Given the description of an element on the screen output the (x, y) to click on. 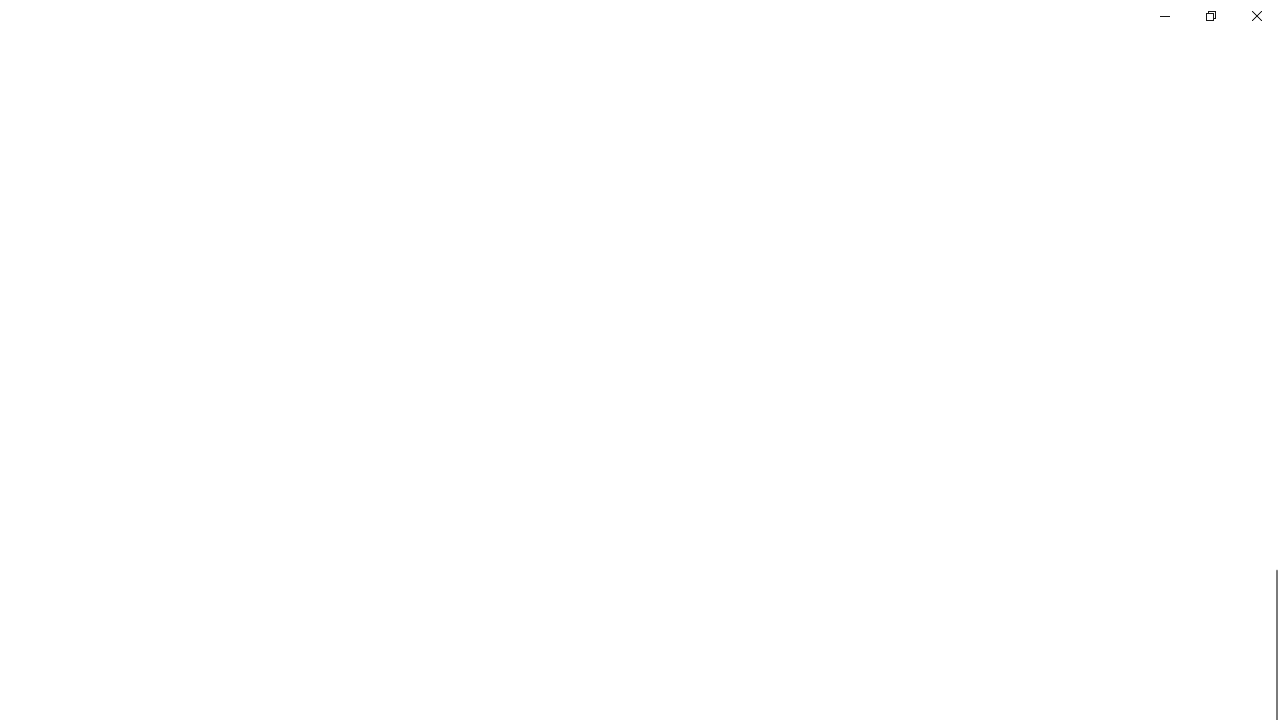
Minimize Settings (1164, 15)
Vertical Large Decrease (1272, 341)
Vertical Small Decrease (1272, 103)
Close Settings (1256, 15)
Restore Settings (1210, 15)
